Given the description of an element on the screen output the (x, y) to click on. 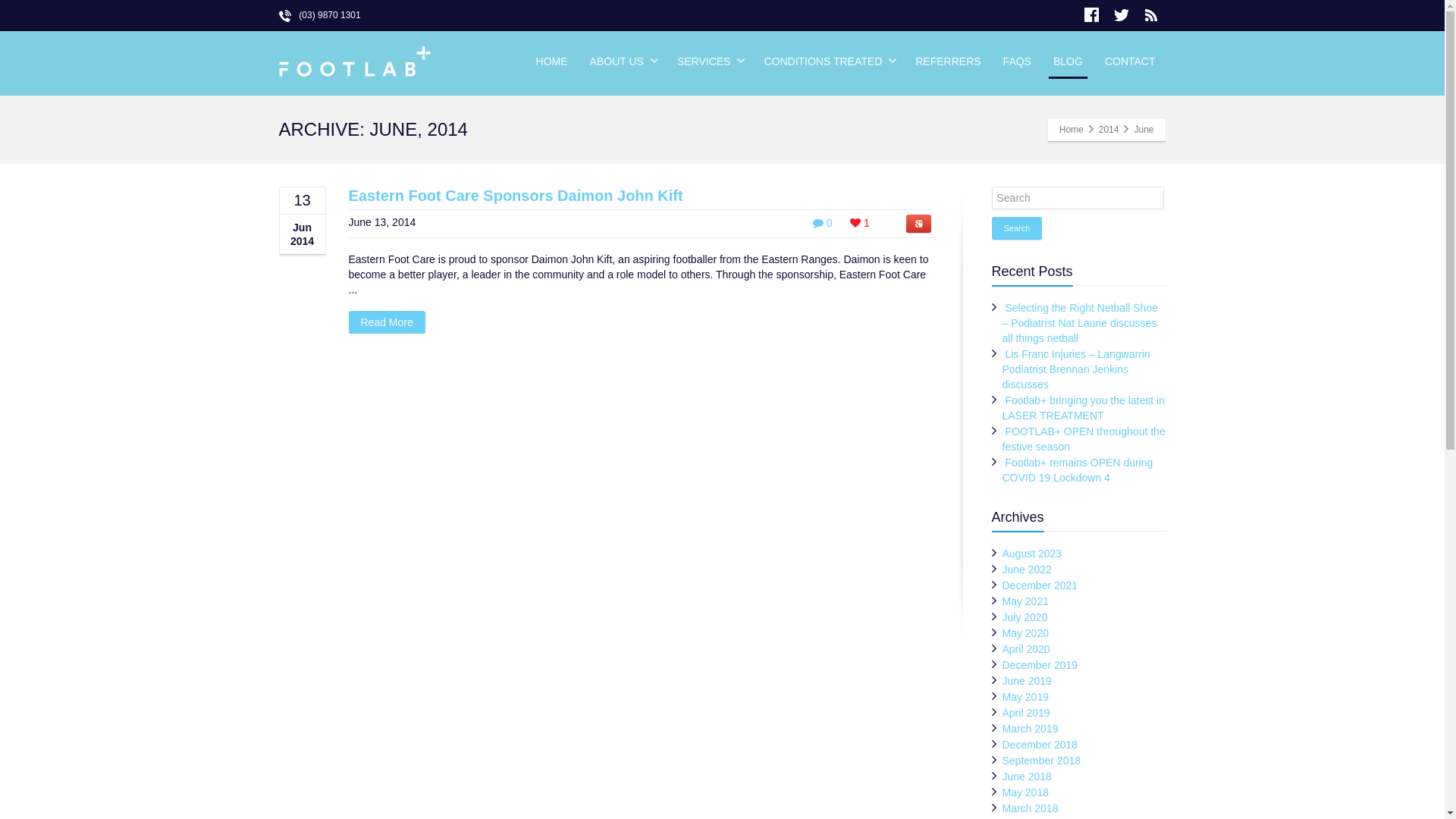
May 2020 Element type: text (1025, 633)
September 2018 Element type: text (1041, 760)
Facebook Element type: hover (1091, 15)
August 2023 Element type: text (1032, 553)
June 2019 Element type: text (1026, 680)
June 2018 Element type: text (1026, 776)
Footlab Logo Element type: text (354, 63)
December 2021 Element type: text (1040, 585)
FOOTLAB+ OPEN throughout the festive season Element type: text (1083, 438)
Search Element type: text (1016, 227)
SERVICES Element type: text (709, 60)
1 Element type: text (859, 222)
(03) 9870 1301 Element type: text (319, 14)
April 2020 Element type: text (1026, 649)
March 2018 Element type: text (1030, 808)
CONTACT Element type: text (1130, 60)
May 2021 Element type: text (1025, 601)
Footlab+ remains OPEN during COVID 19 Lockdown 4 Element type: text (1077, 469)
FAQS Element type: text (1016, 60)
HOME Element type: text (551, 60)
Read More Element type: text (386, 321)
Eastern Foot Care Sponsors Daimon John Kift Element type: text (515, 195)
Twitter Element type: hover (1120, 15)
BLOG Element type: text (1067, 60)
May 2019 Element type: text (1025, 696)
May 2018 Element type: text (1025, 792)
0 Element type: text (822, 222)
2014 Element type: text (1108, 129)
December 2019 Element type: text (1040, 664)
July 2020 Element type: text (1025, 617)
ABOUT US Element type: text (622, 60)
CONDITIONS TREATED Element type: text (828, 60)
March 2019 Element type: text (1030, 728)
Home Element type: text (1071, 129)
December 2018 Element type: text (1040, 744)
REFERRERS Element type: text (947, 60)
Rss Element type: hover (1150, 15)
Footlab+ bringing you the latest in LASER TREATMENT Element type: text (1083, 407)
April 2019 Element type: text (1026, 712)
June 2022 Element type: text (1026, 569)
